Given the description of an element on the screen output the (x, y) to click on. 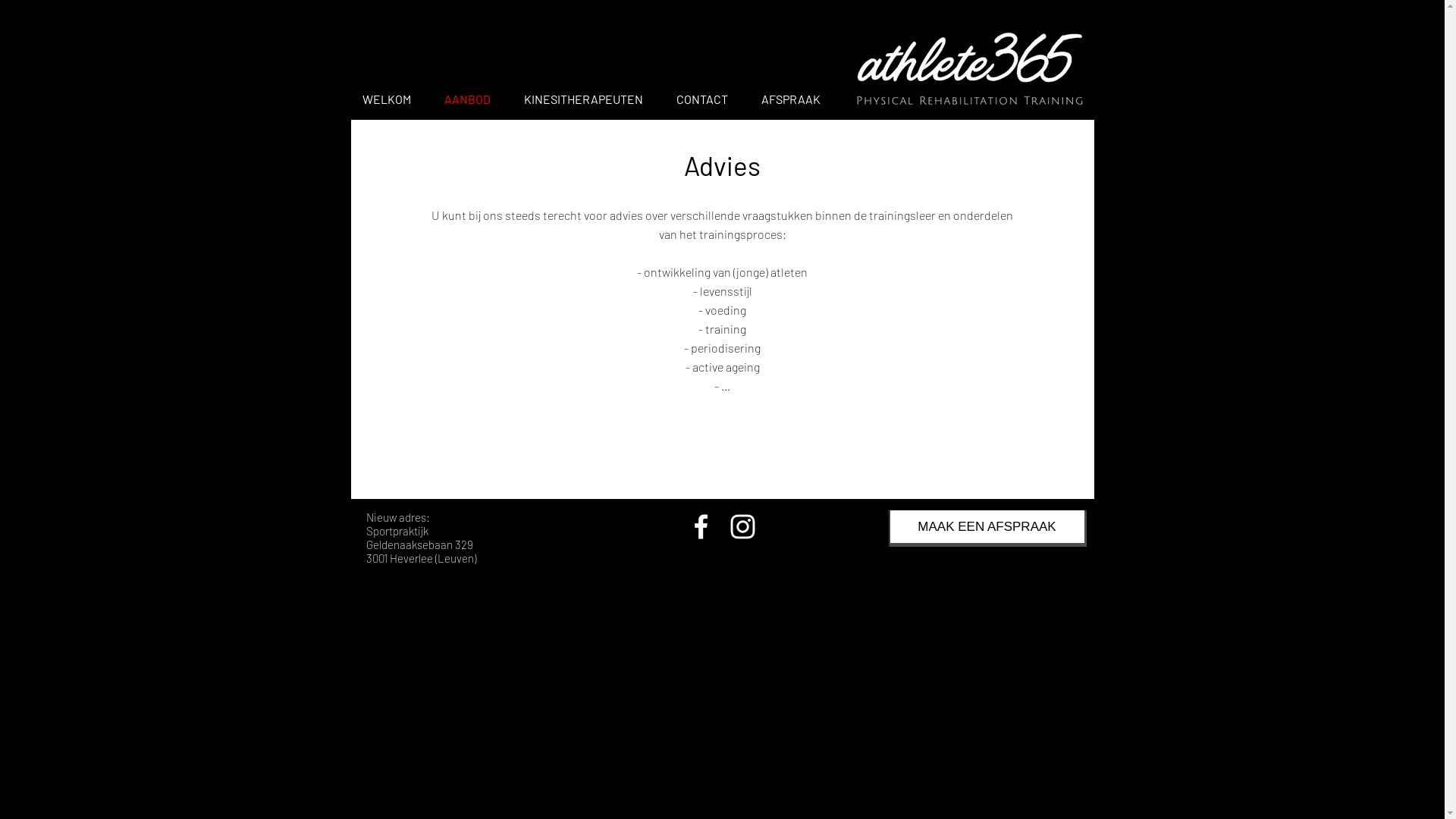
AFSPRAAK Element type: text (794, 98)
WELKOM Element type: text (391, 98)
MAAK EEN AFSPRAAK Element type: text (987, 526)
AANBOD Element type: text (471, 98)
CONTACT Element type: text (706, 98)
KINESITHERAPEUTEN Element type: text (588, 98)
